Given the description of an element on the screen output the (x, y) to click on. 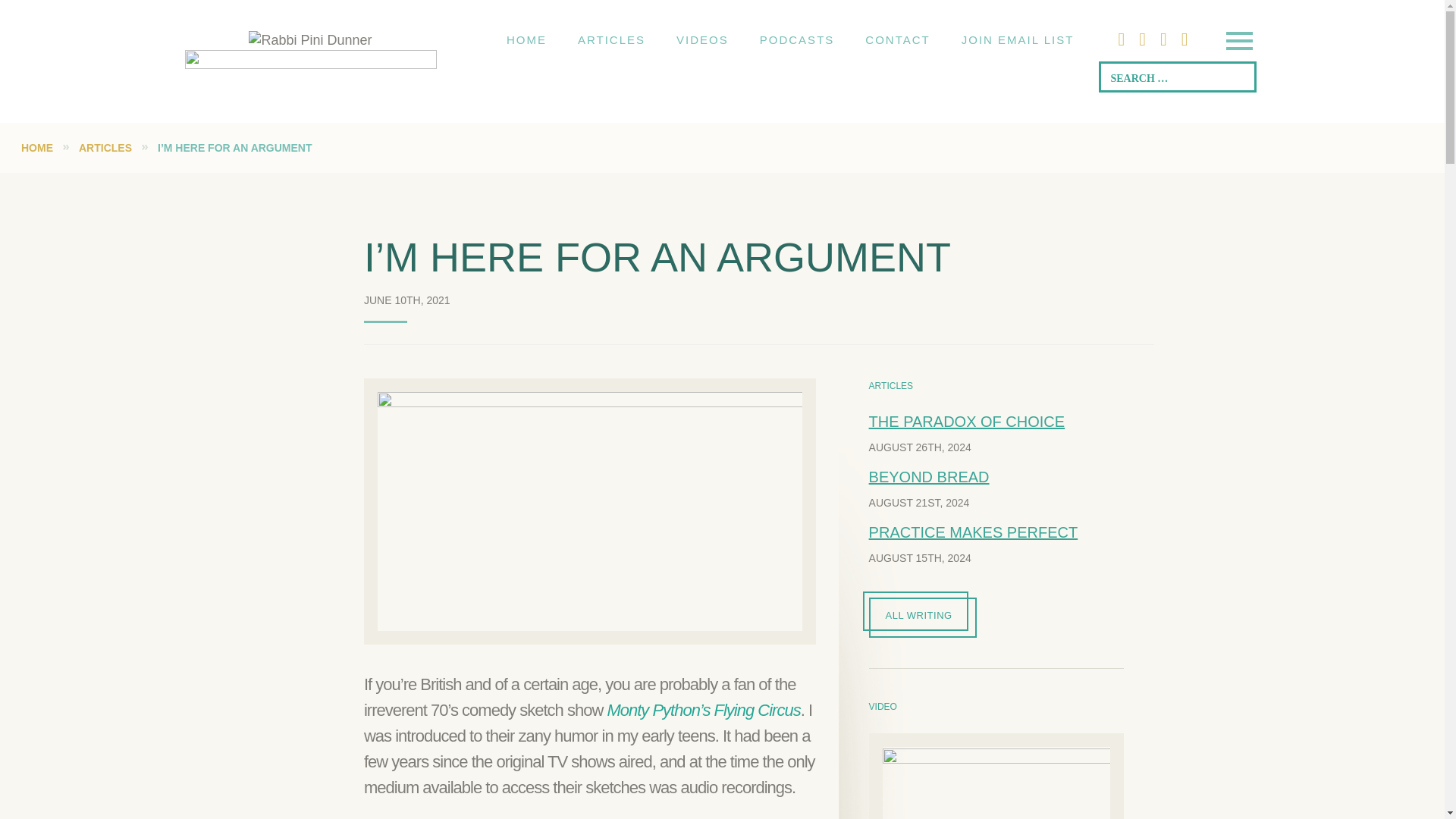
PODCASTS (796, 40)
JOIN EMAIL LIST (1017, 40)
VIDEOS (702, 40)
ARTICLES (104, 147)
Rabbi Pini Dunner (309, 40)
CONTACT (897, 40)
toggle menu (1238, 43)
HOME (36, 147)
ARTICLES (611, 40)
HOME (526, 40)
